Given the description of an element on the screen output the (x, y) to click on. 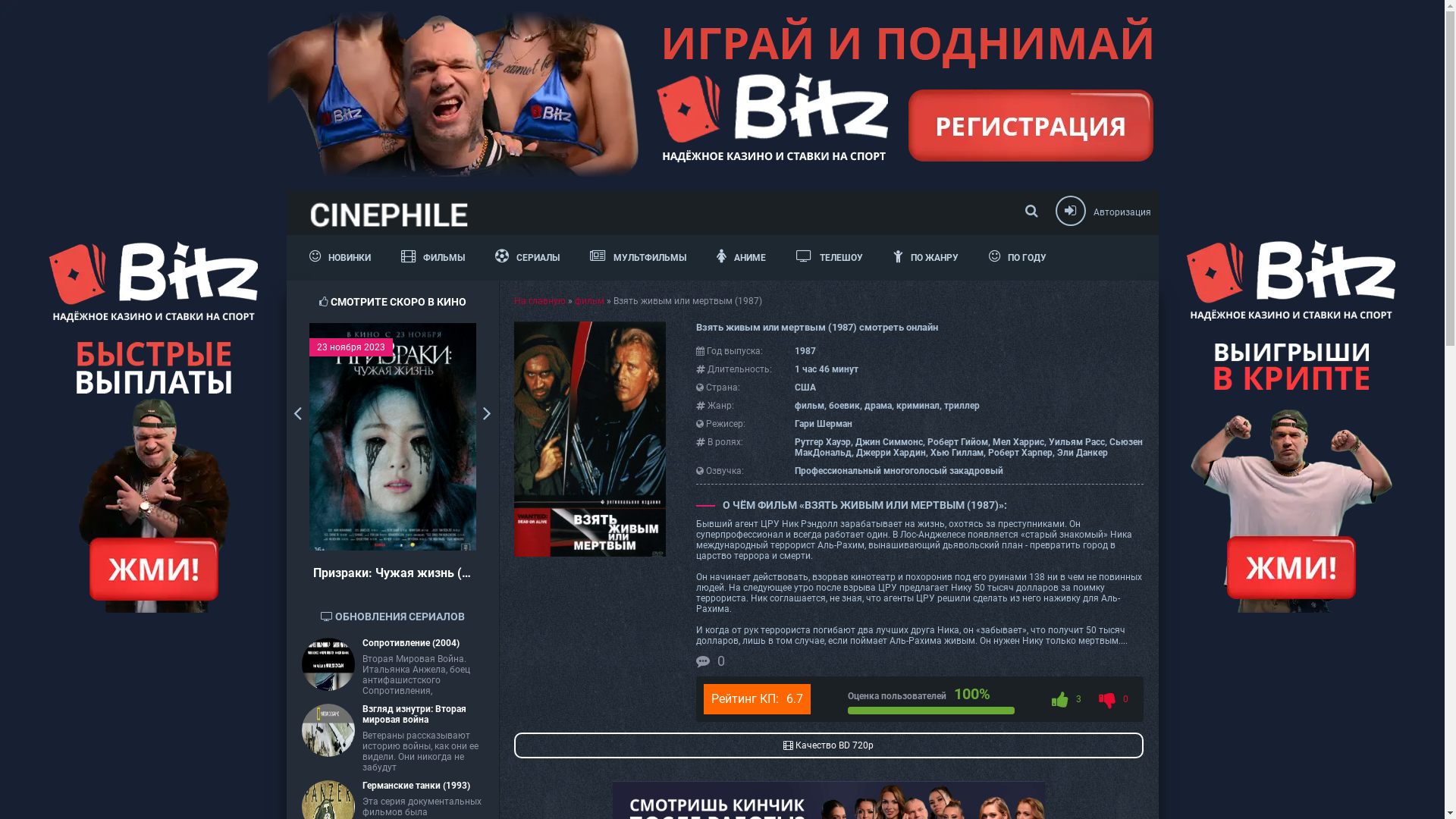
0 Element type: text (1112, 699)
3 Element type: text (1065, 699)
